Given the description of an element on the screen output the (x, y) to click on. 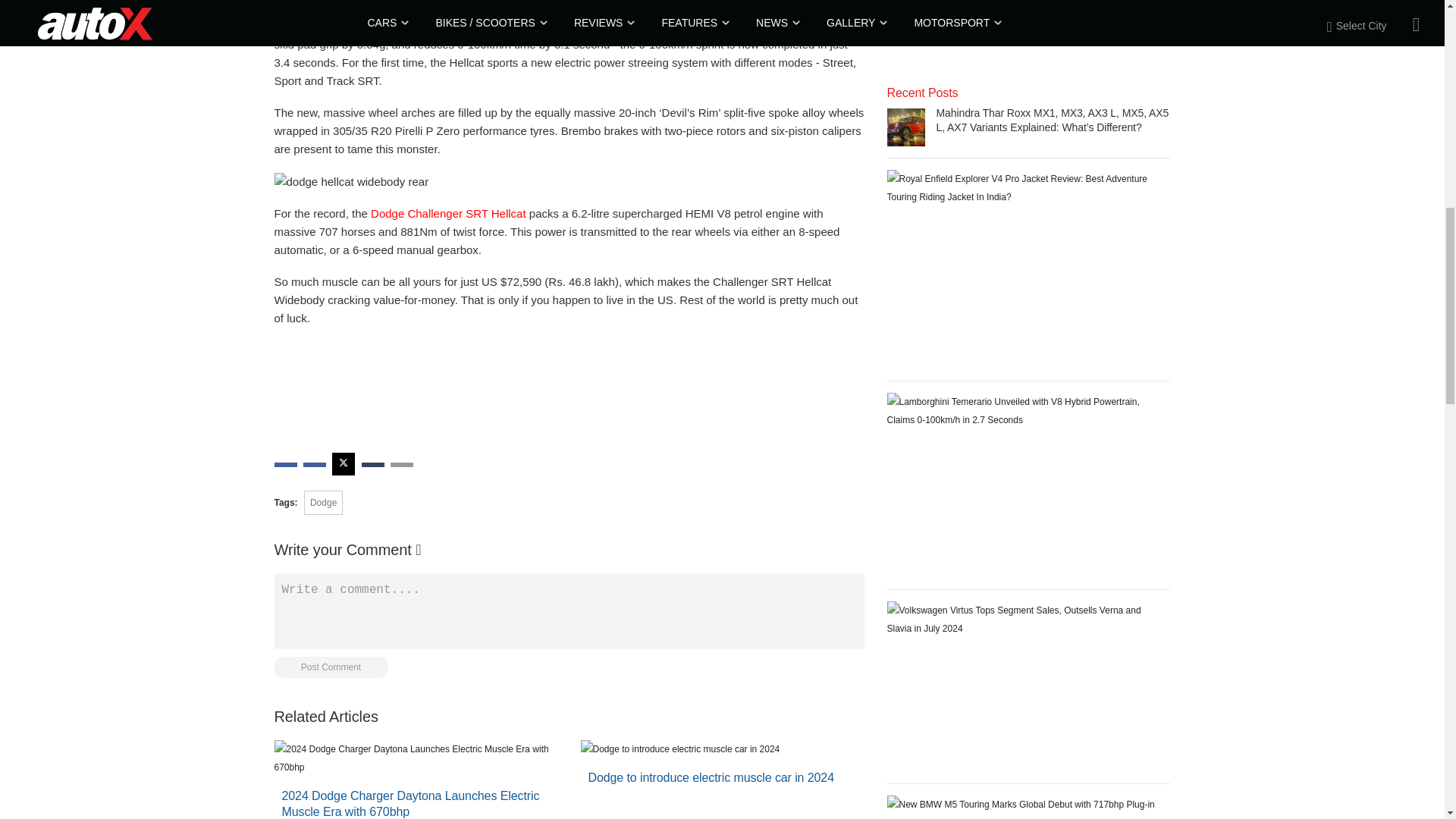
share with tumblr (372, 464)
share with twitter (343, 463)
